Given the description of an element on the screen output the (x, y) to click on. 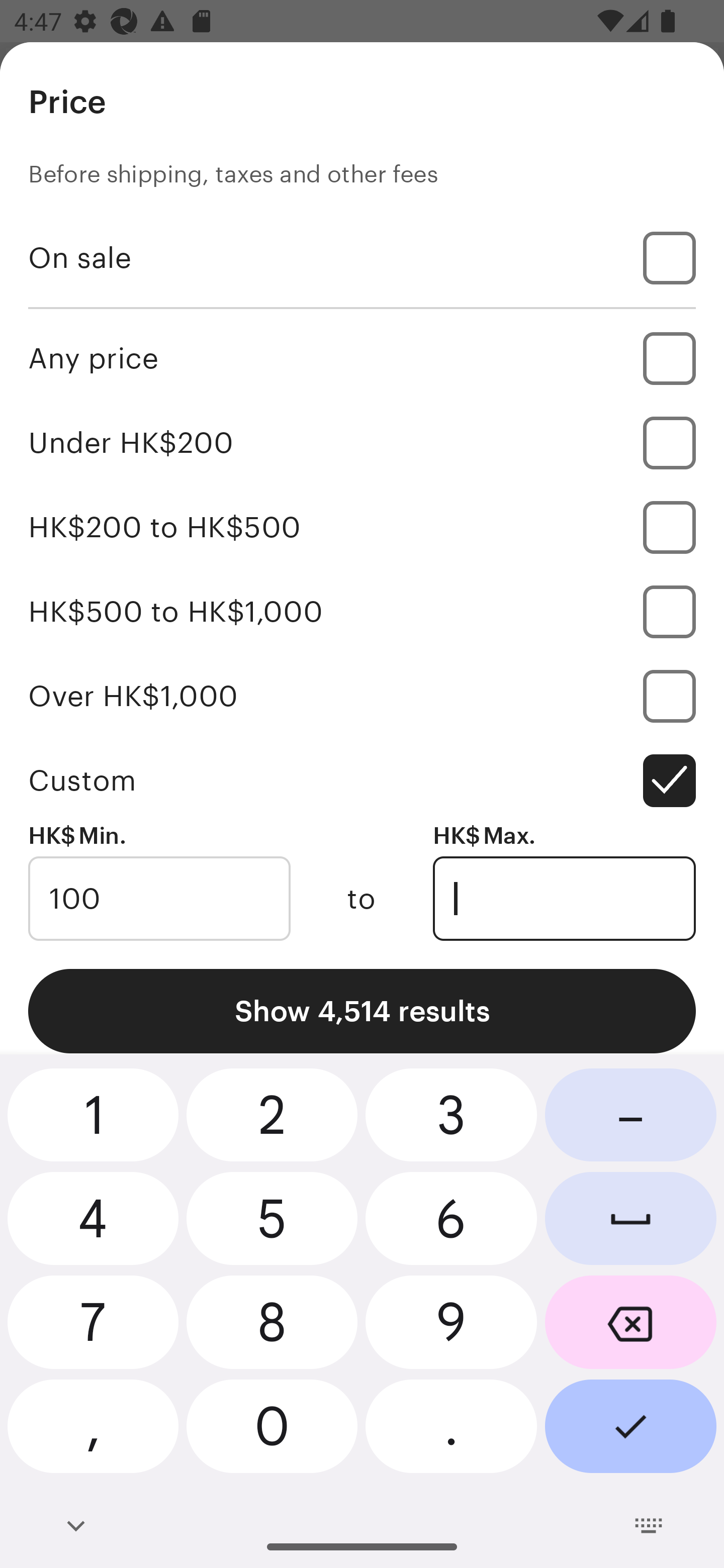
On sale (362, 257)
Any price (362, 357)
Under HK$200 (362, 441)
HK$200 to HK$500 (362, 526)
HK$500 to HK$1,000 (362, 611)
Over HK$1,000 (362, 695)
Custom (362, 780)
100 (159, 898)
Show 4,514 results (361, 1011)
